Given the description of an element on the screen output the (x, y) to click on. 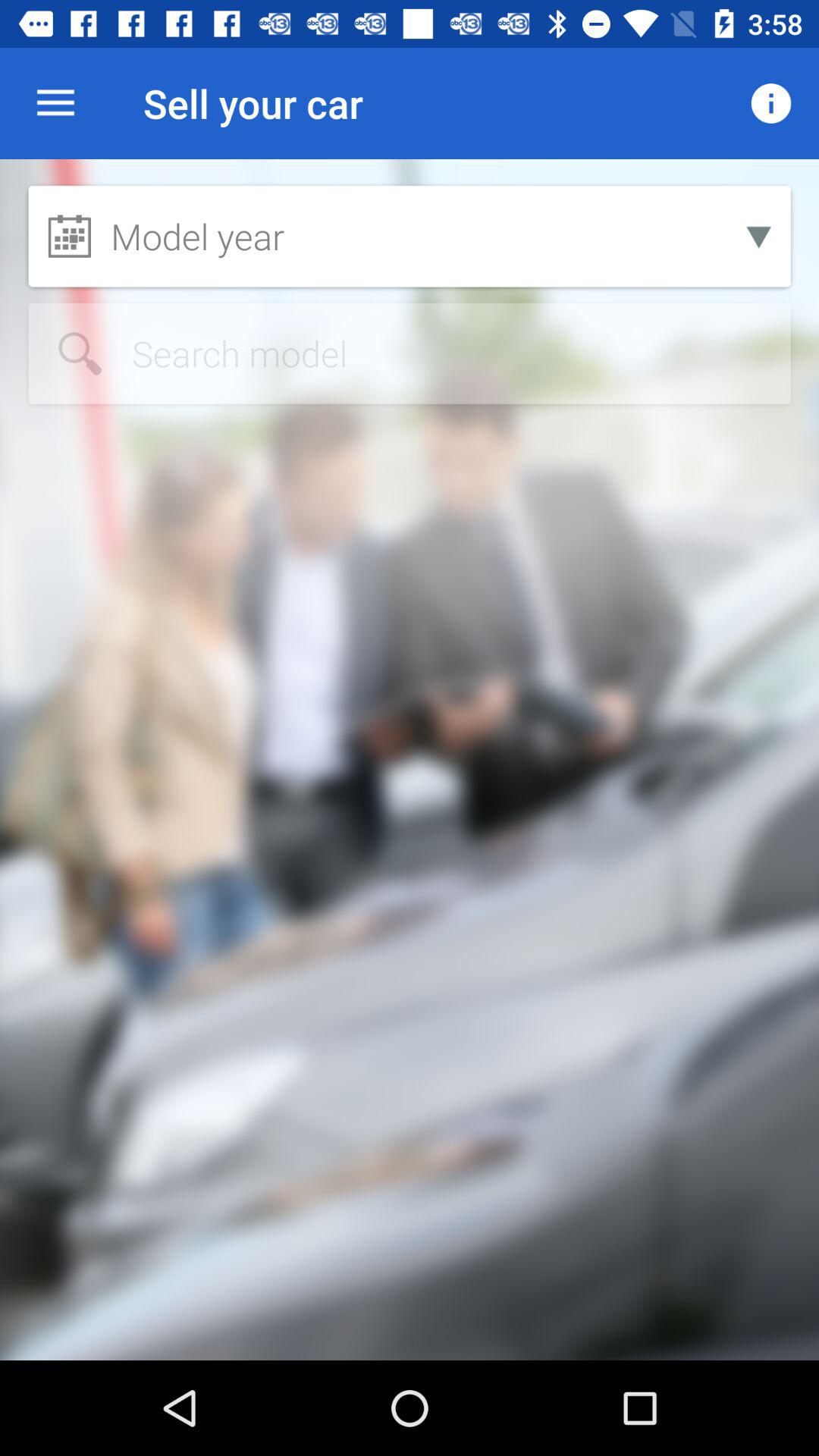
press icon to the right of sell your car icon (771, 103)
